Given the description of an element on the screen output the (x, y) to click on. 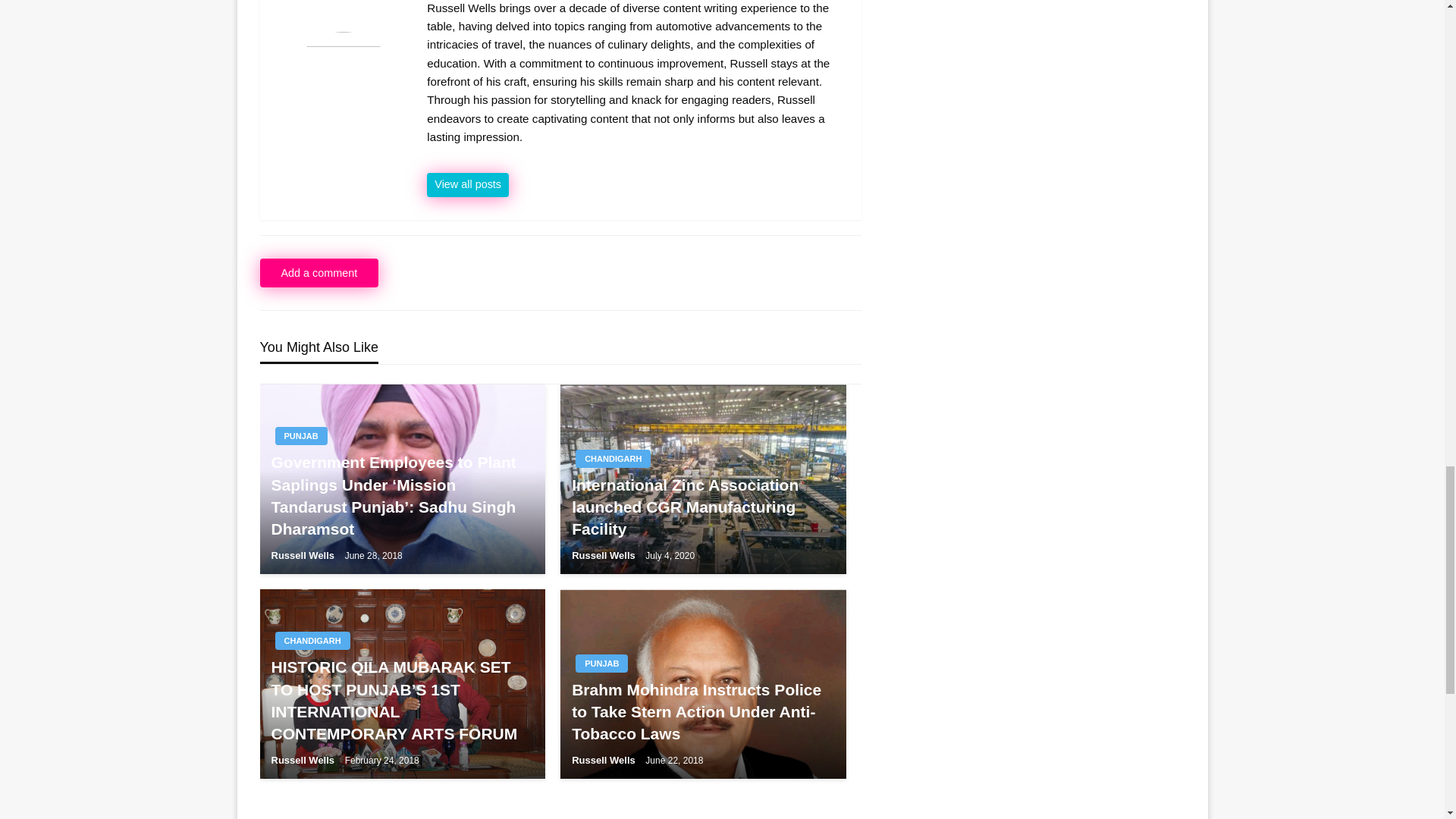
Russell Wells (467, 184)
